Given the description of an element on the screen output the (x, y) to click on. 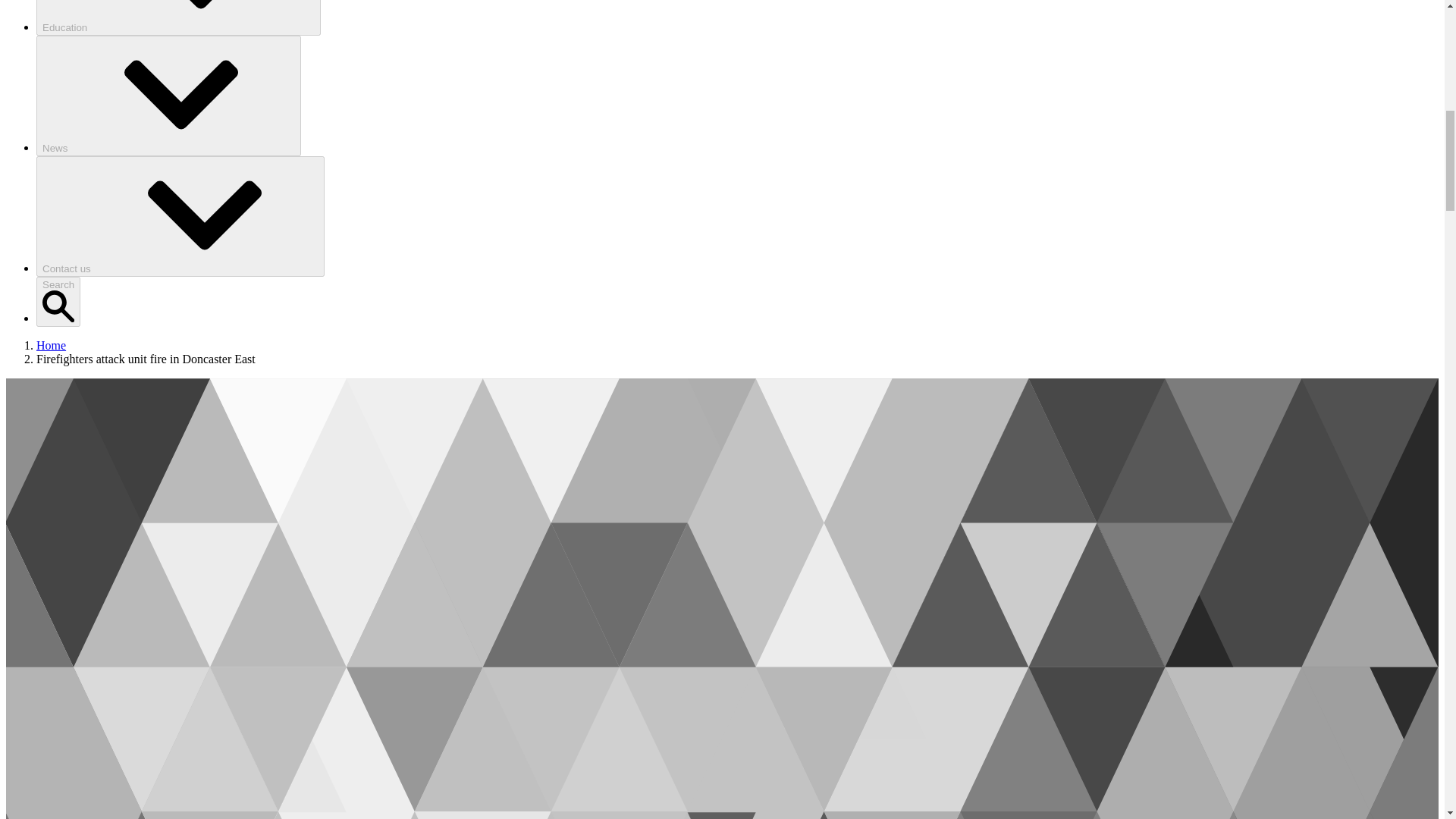
Home (50, 345)
